Given the description of an element on the screen output the (x, y) to click on. 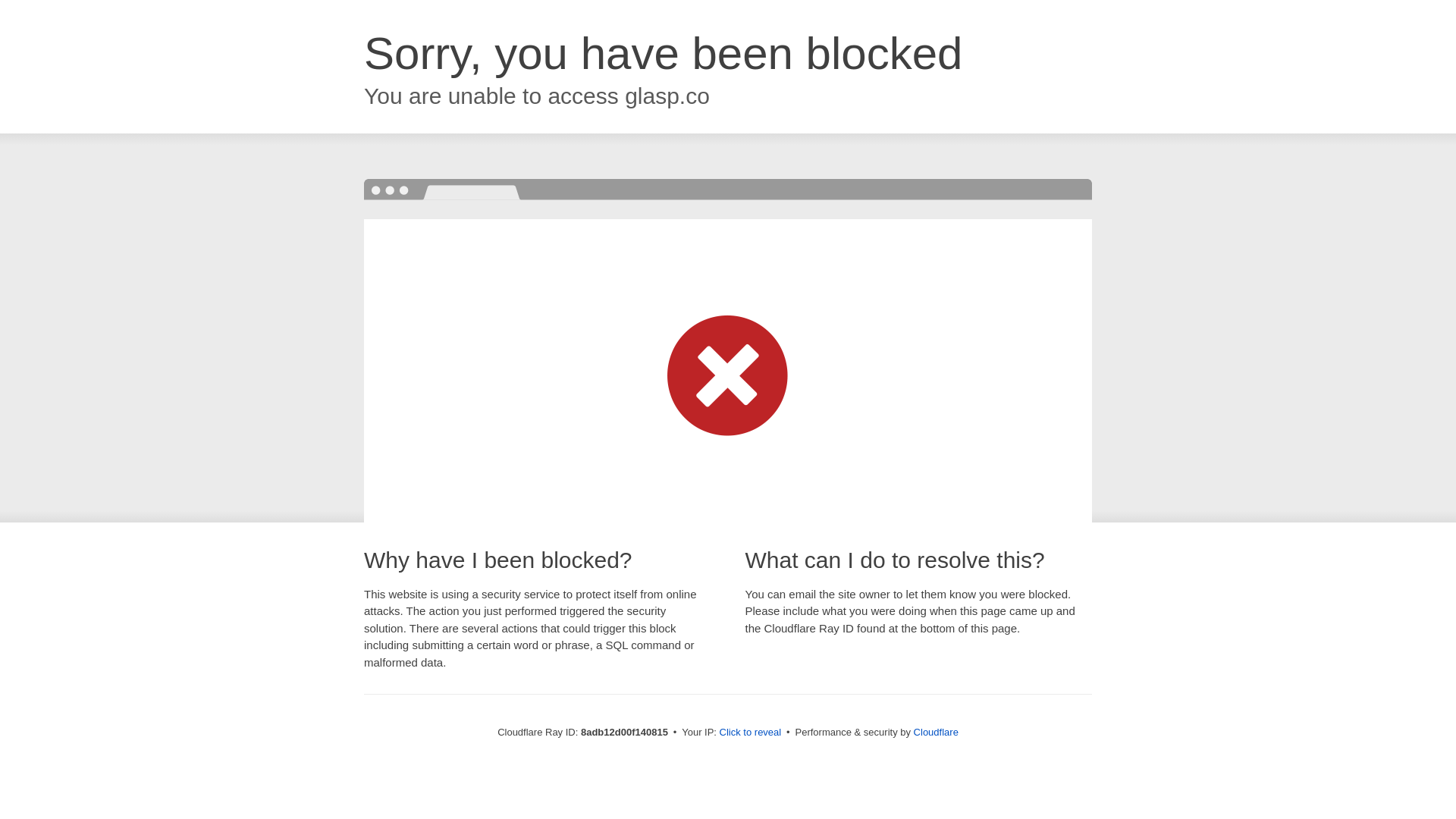
Click to reveal (750, 732)
Cloudflare (936, 731)
